Given the description of an element on the screen output the (x, y) to click on. 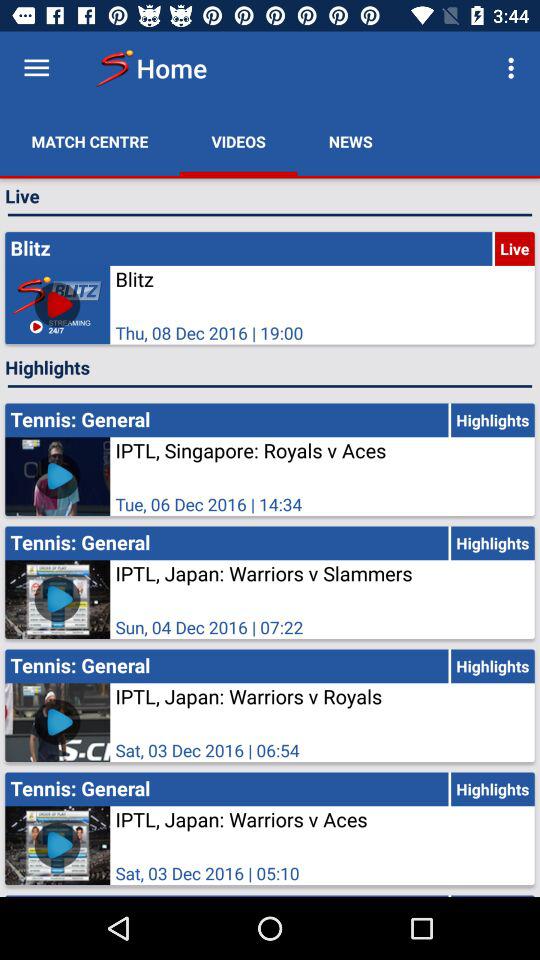
press news item (350, 141)
